Given the description of an element on the screen output the (x, y) to click on. 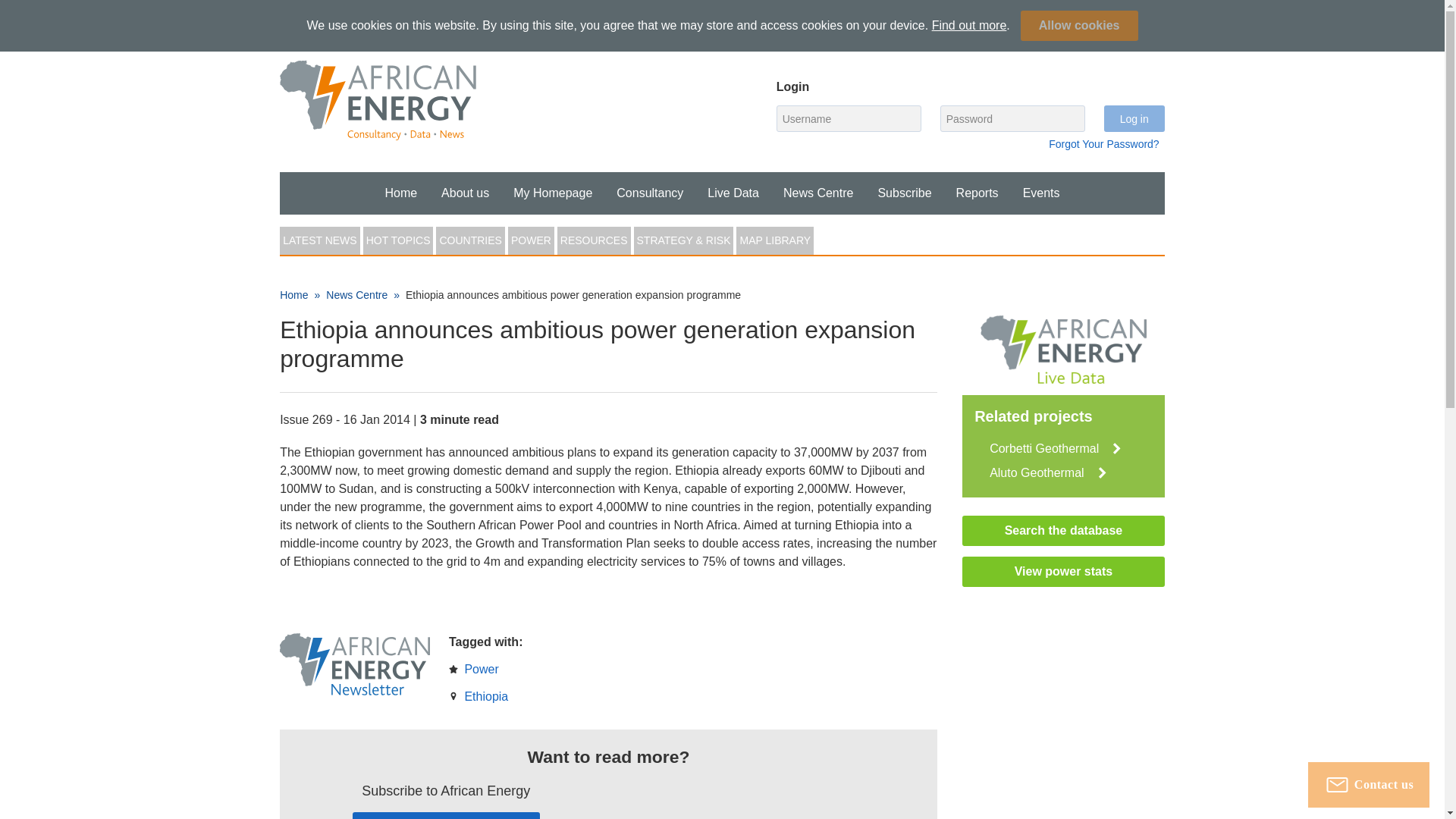
Forgot Your Password? (1103, 143)
Consultancy (649, 192)
My homepage (963, 31)
About us (1126, 30)
Home (464, 192)
Live Data (400, 192)
News Centre (733, 192)
Live Data (817, 192)
My Homepage (733, 192)
Home (552, 192)
About us (400, 192)
My Homepage (464, 192)
Log in (552, 192)
Consultancy (1133, 118)
